Given the description of an element on the screen output the (x, y) to click on. 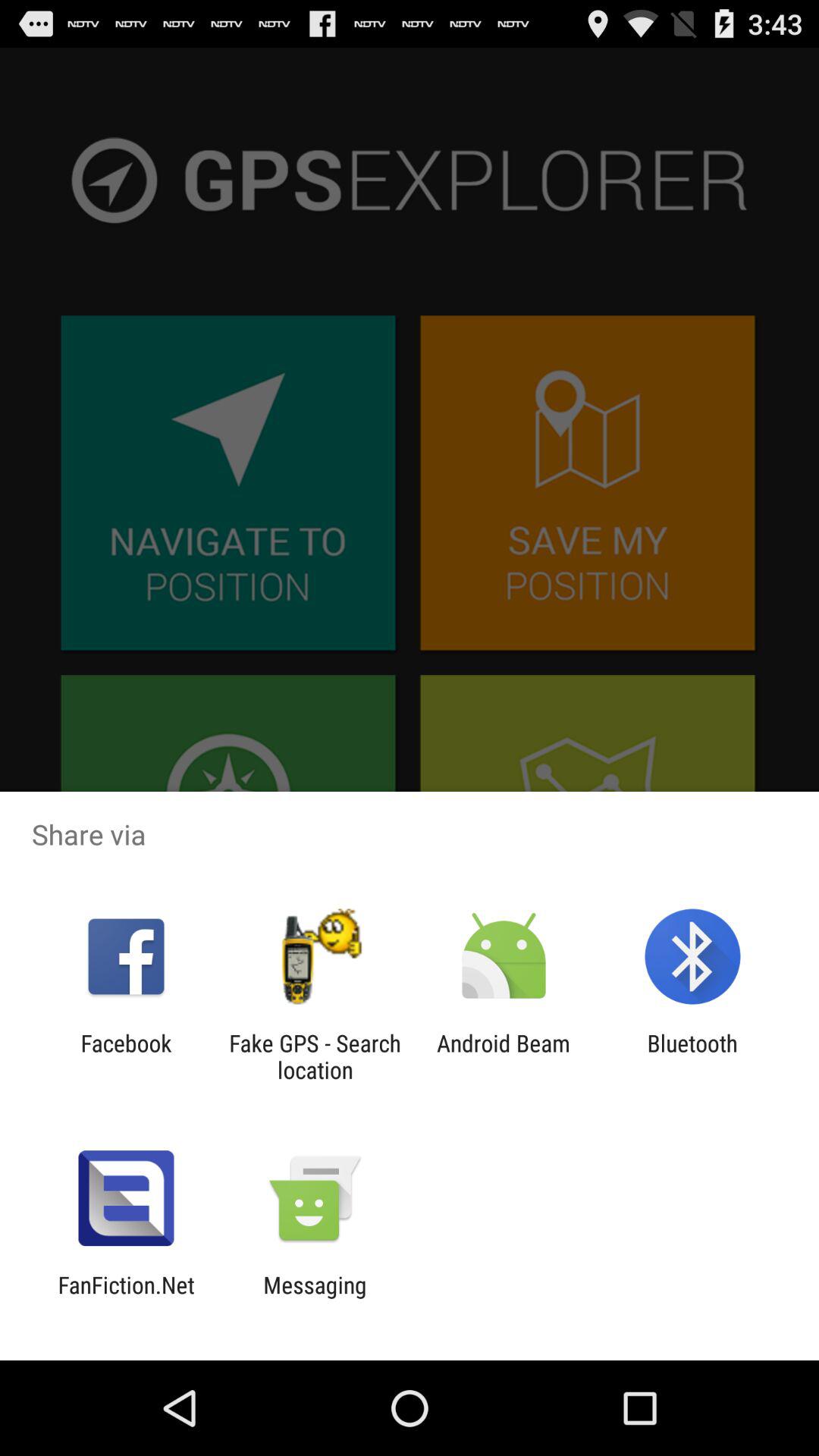
turn on messaging (314, 1298)
